Given the description of an element on the screen output the (x, y) to click on. 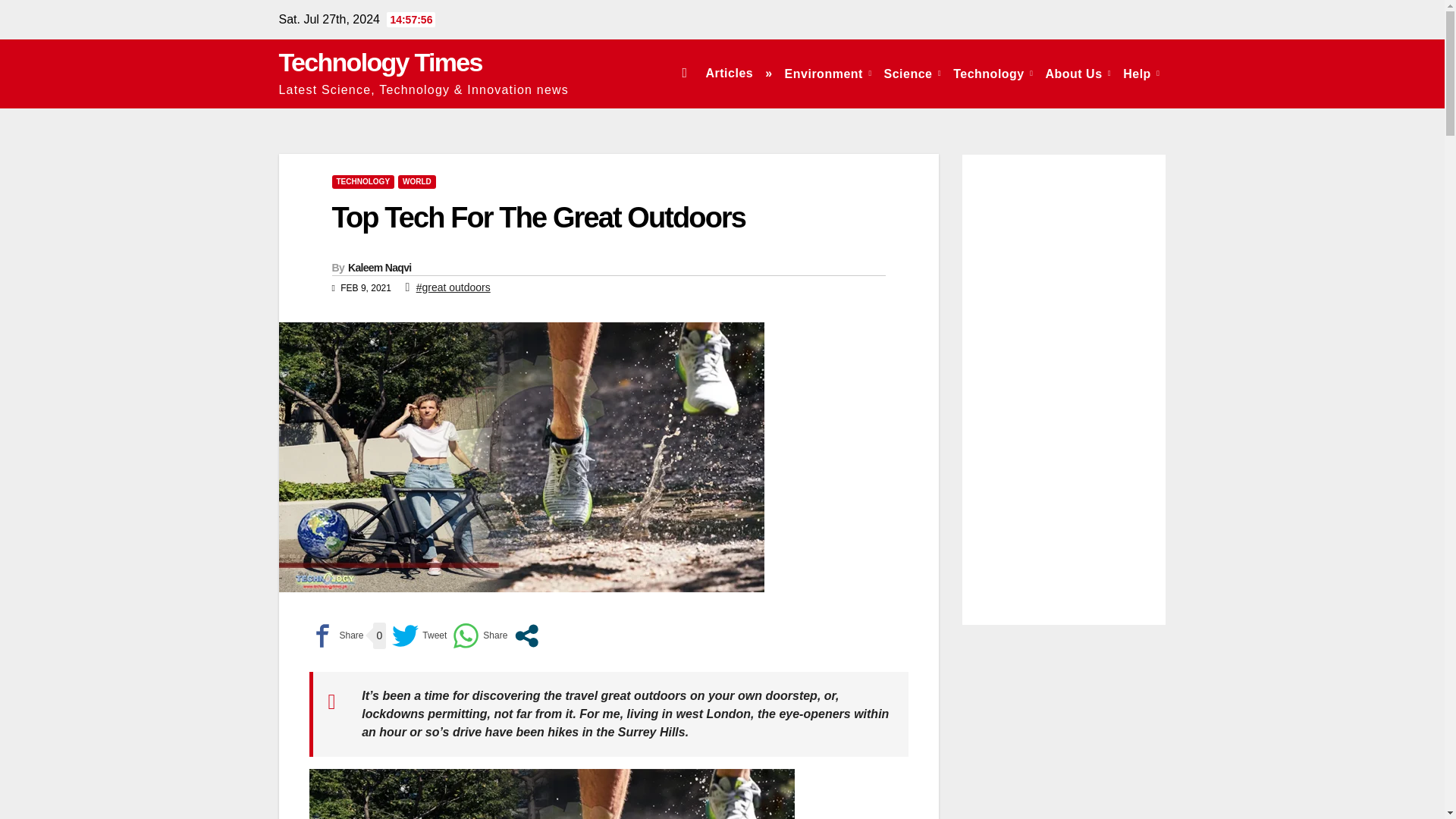
Science (912, 73)
Articles (728, 73)
Environment (827, 73)
About Us (1077, 73)
Science (912, 73)
Technology (993, 73)
Environment (827, 73)
Technology (993, 73)
Technology Times (380, 61)
Articles (728, 73)
Help (1141, 73)
